Given the description of an element on the screen output the (x, y) to click on. 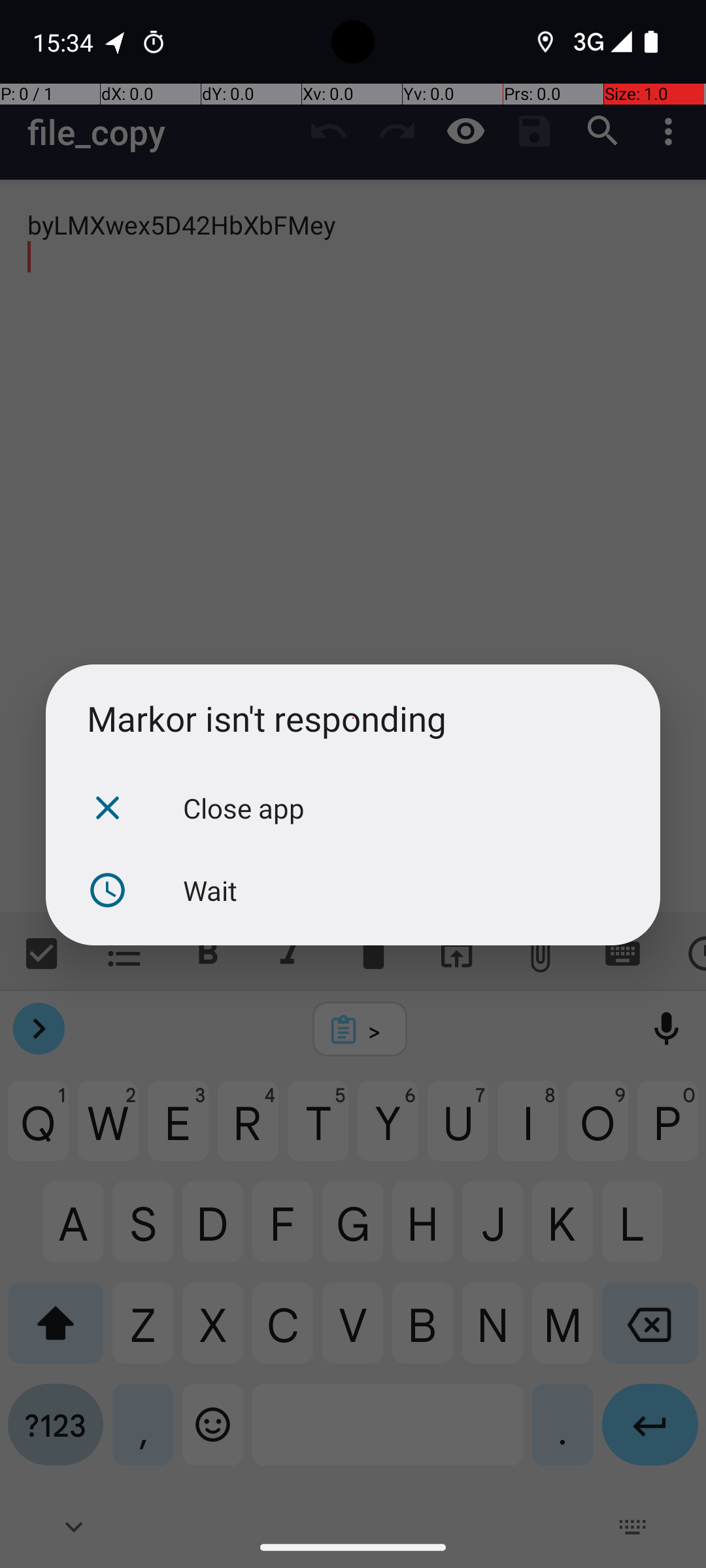
Markor isn't responding Element type: android.widget.TextView (352, 718)
Close app Element type: android.widget.Button (352, 808)
Wait Element type: android.widget.Button (352, 890)
